Given the description of an element on the screen output the (x, y) to click on. 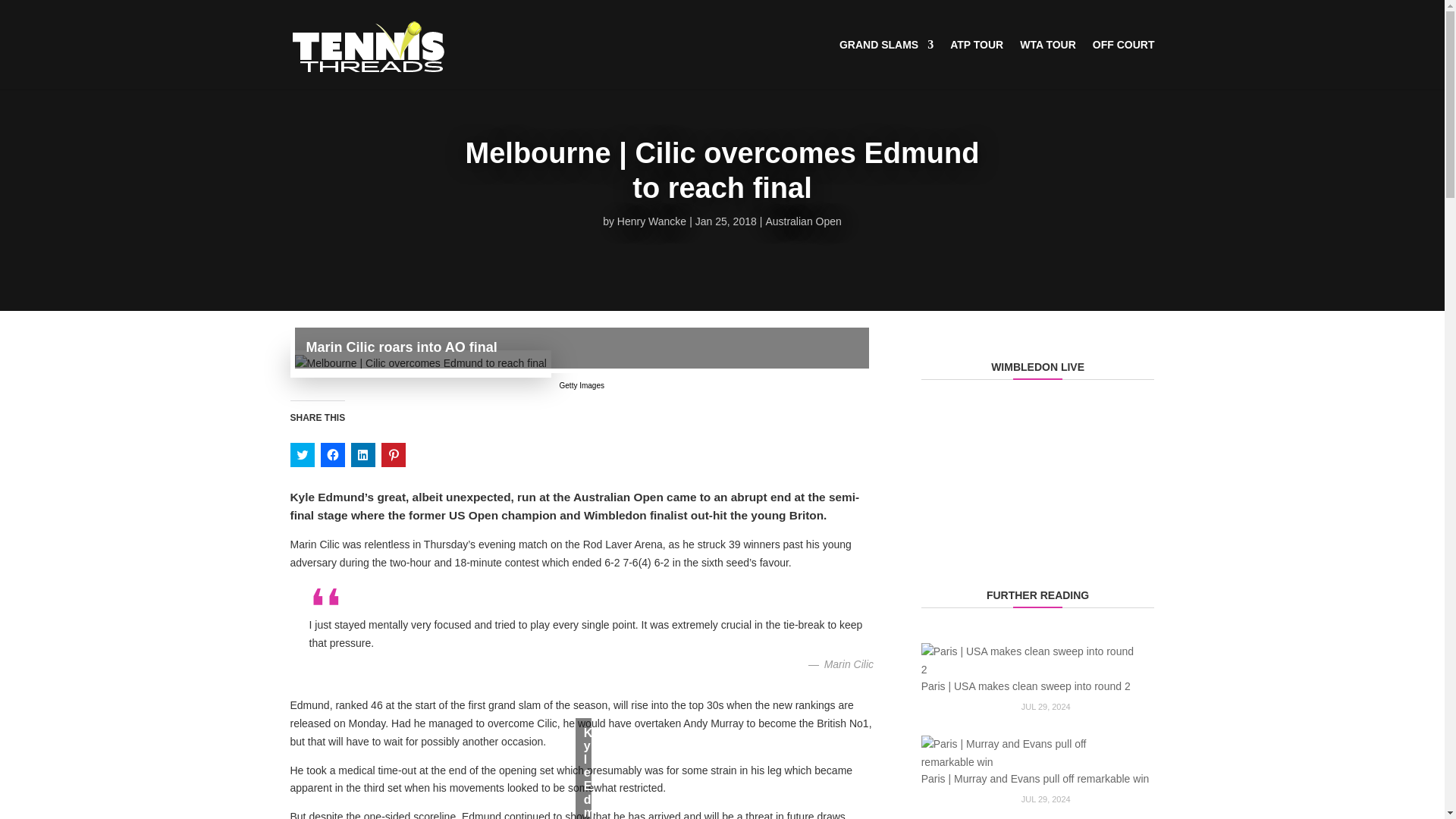
WTA TOUR (1047, 64)
Click to share on Facebook (331, 454)
Posts by Henry Wancke (651, 221)
Click to share on Twitter (301, 454)
ATP TOUR (976, 64)
GRAND SLAMS (886, 64)
Henry Wancke (651, 221)
OFF COURT (1123, 64)
Click to share on Pinterest (392, 454)
Australian Open (803, 221)
Click to share on LinkedIn (362, 454)
